Given the description of an element on the screen output the (x, y) to click on. 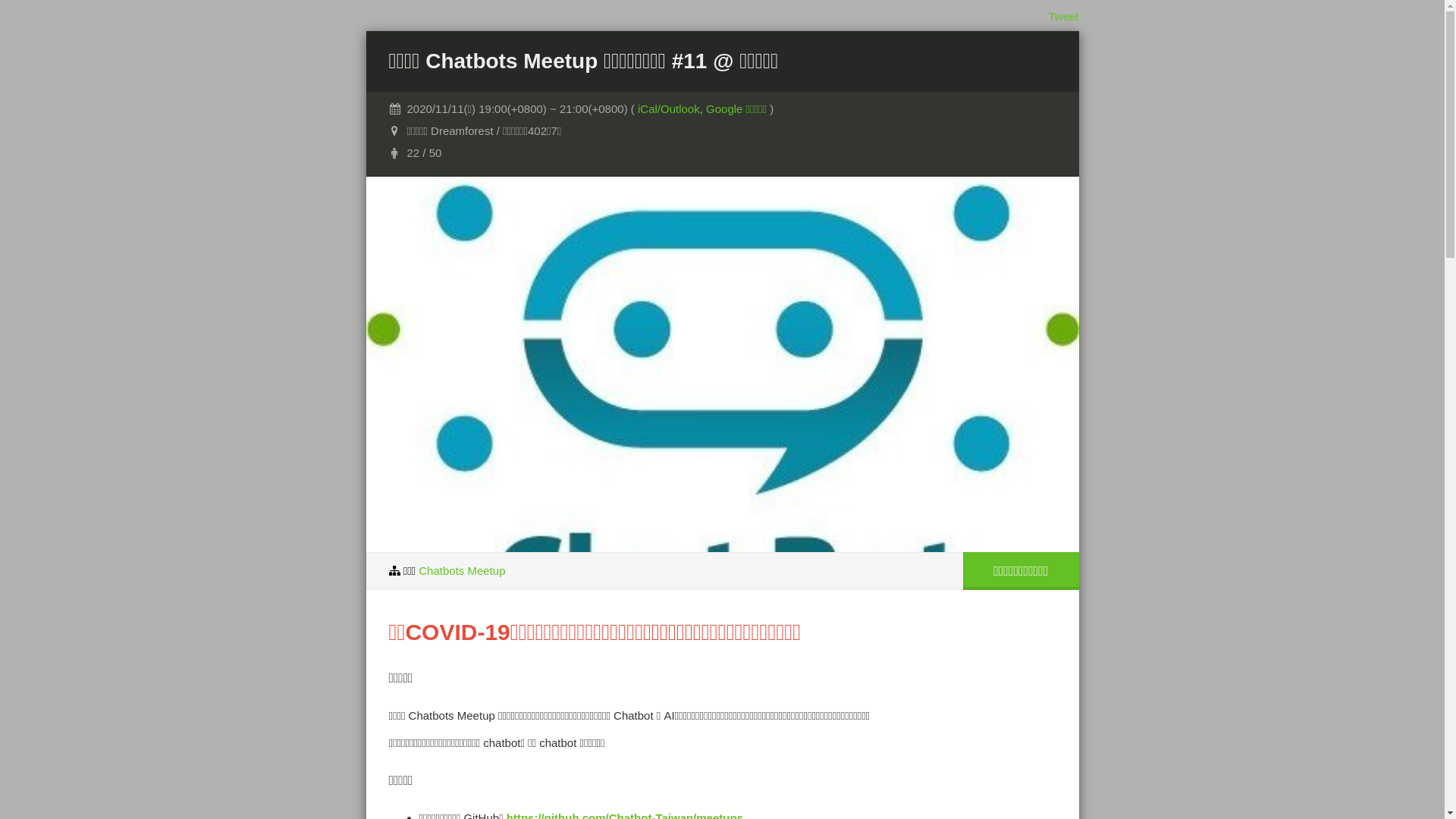
Tweet Element type: text (1063, 15)
Chatbots Meetup Element type: text (461, 570)
iCal/Outlook Element type: text (668, 108)
